Given the description of an element on the screen output the (x, y) to click on. 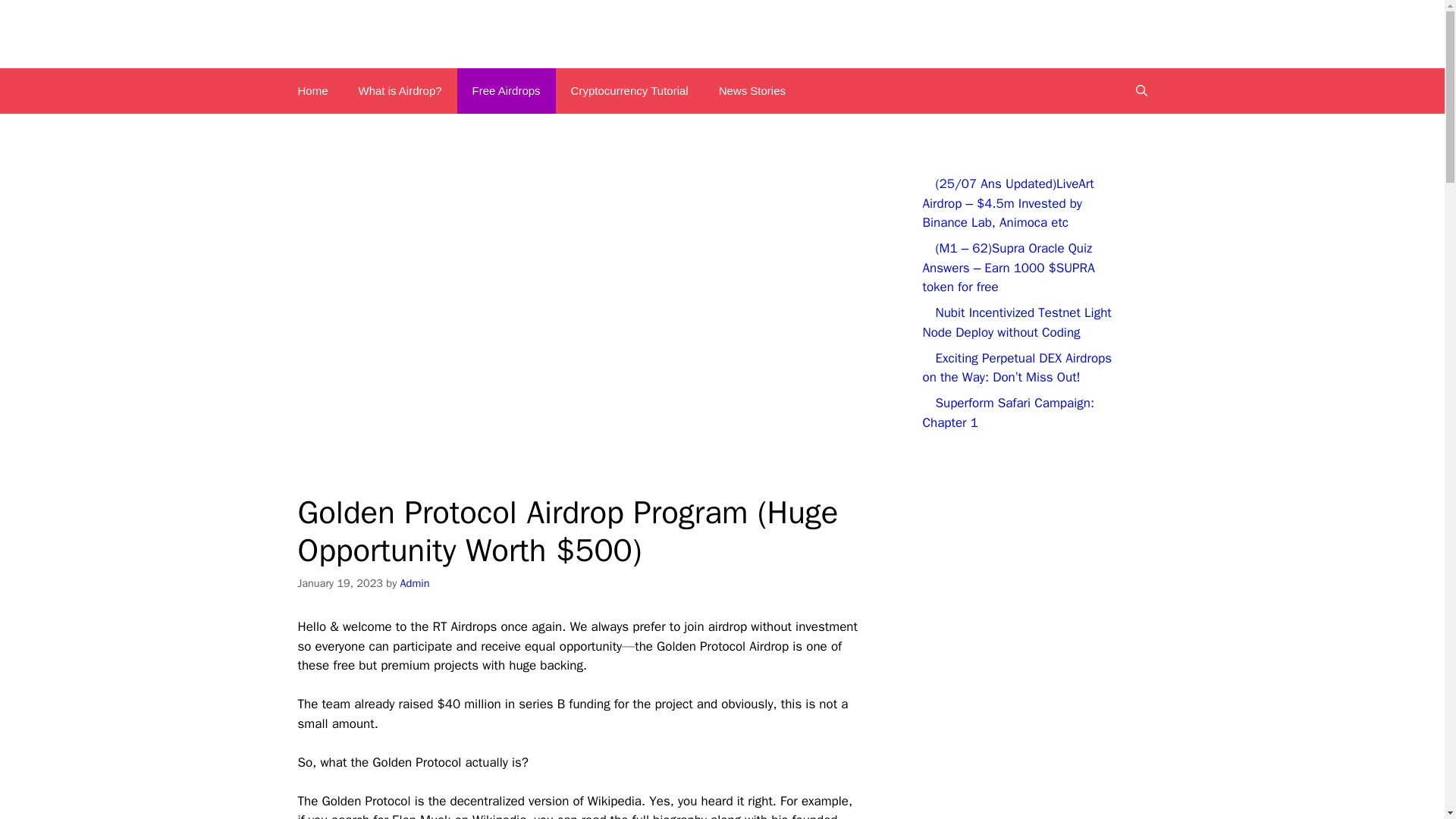
Nubit Incentivized Testnet Light Node Deploy without Coding (1015, 322)
What is Airdrop? (400, 90)
News Stories (751, 90)
View all posts by Admin (414, 582)
Cryptocurrency Tutorial (629, 90)
Admin (414, 582)
Free Airdrops (506, 90)
Home (312, 90)
